Given the description of an element on the screen output the (x, y) to click on. 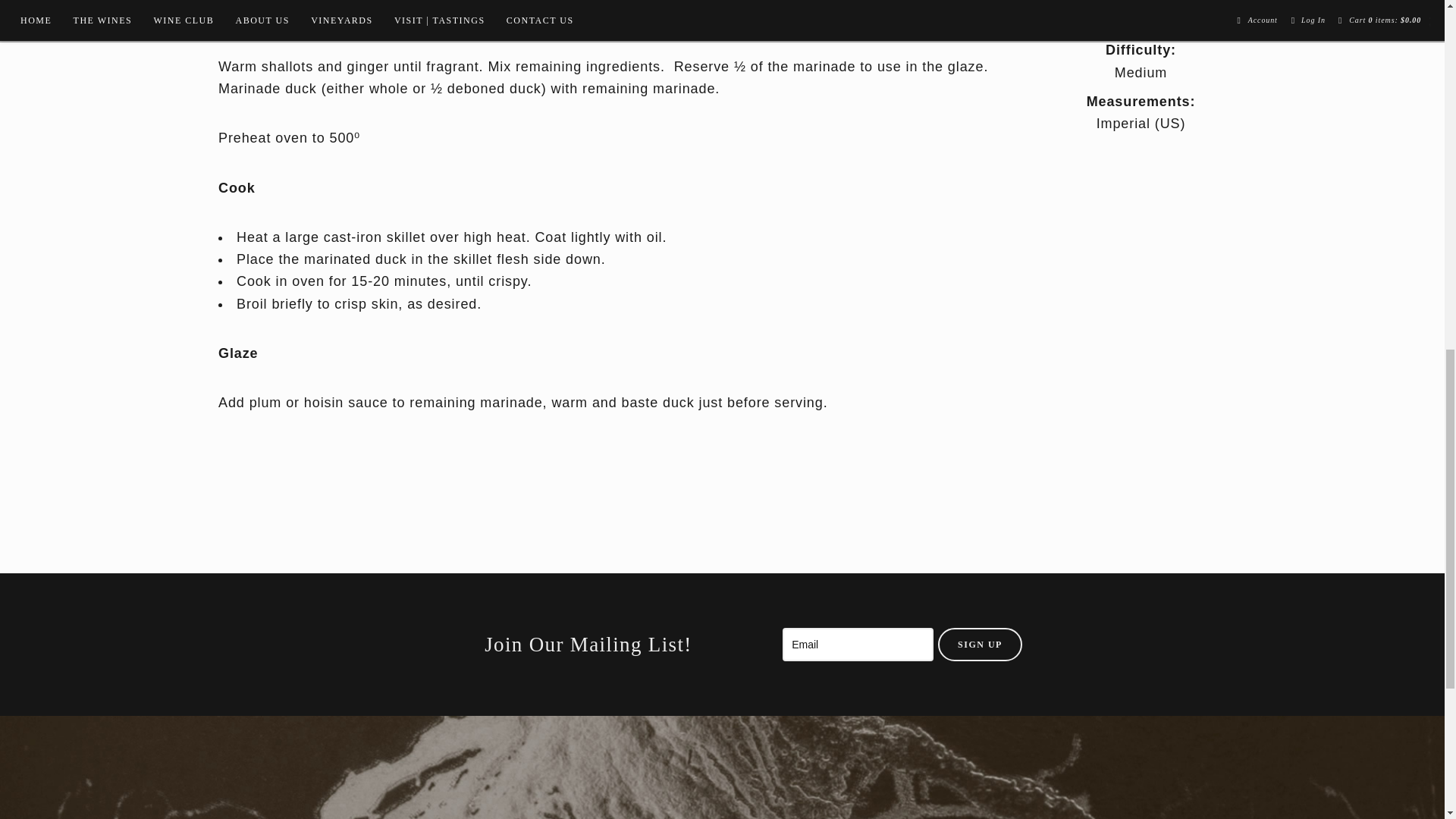
Email (858, 644)
SIGN UP (979, 644)
